Given the description of an element on the screen output the (x, y) to click on. 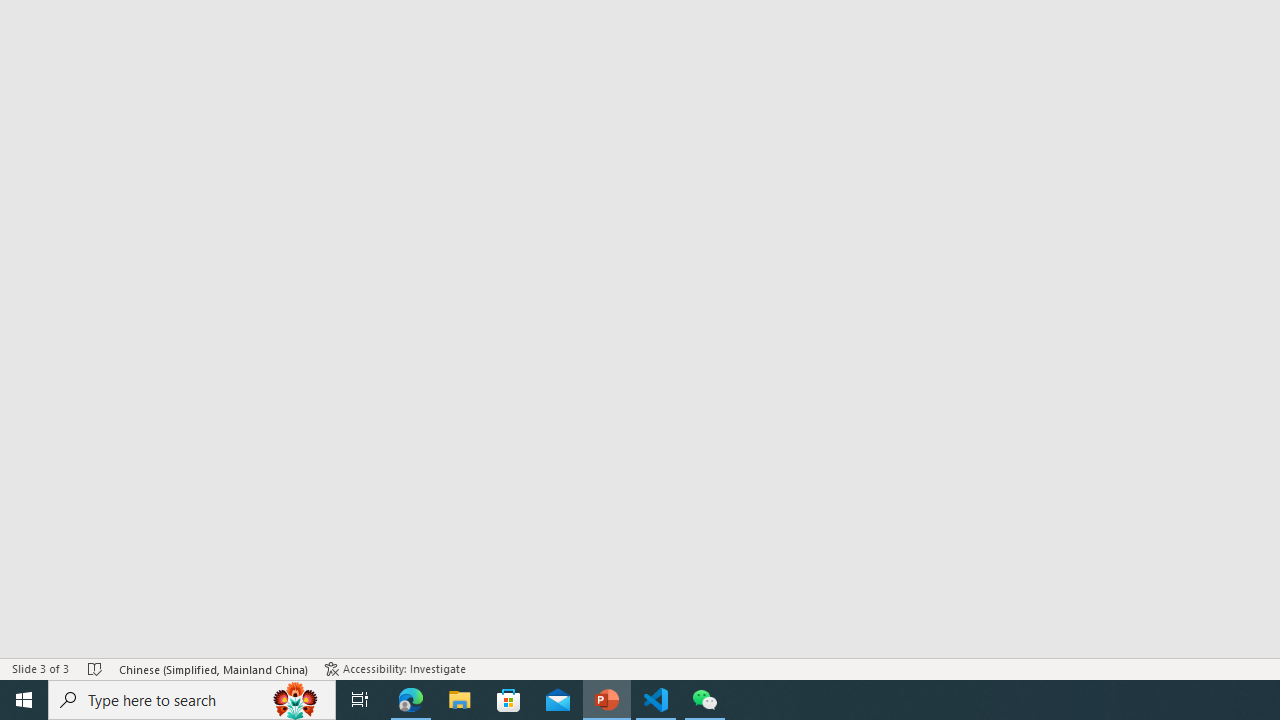
Task View (359, 699)
Visual Studio Code - 1 running window (656, 699)
Search highlights icon opens search home window (295, 699)
File Explorer (460, 699)
Start (24, 699)
Microsoft Edge - 1 running window (411, 699)
PowerPoint - 1 running window (607, 699)
Microsoft Store (509, 699)
Type here to search (191, 699)
WeChat - 1 running window (704, 699)
